Given the description of an element on the screen output the (x, y) to click on. 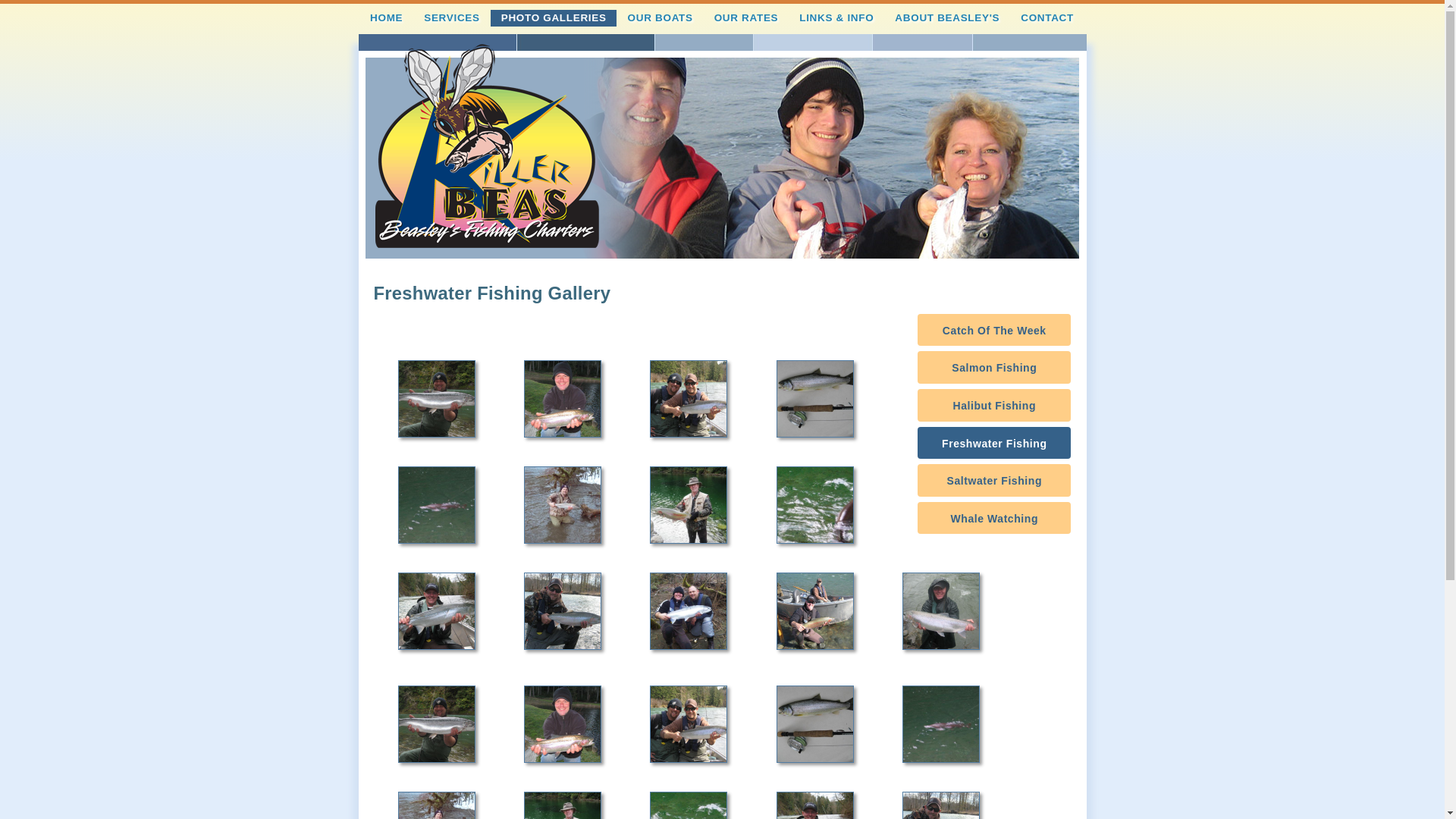
Saltwater Fishing Element type: text (993, 480)
Freshwater Fishing Element type: text (993, 442)
SERVICES Element type: text (451, 17)
OUR BOATS Element type: text (659, 17)
LINKS & INFO Element type: text (836, 17)
ABOUT BEASLEY'S Element type: text (947, 17)
Beasley's Fishing Charters Element type: hover (486, 145)
PHOTO GALLERIES Element type: text (553, 17)
Whale Watching Element type: text (993, 518)
OUR RATES Element type: text (745, 17)
Catch Of The Week Element type: text (993, 329)
HOME Element type: text (386, 17)
Halibut Fishing Element type: text (993, 405)
CONTACT Element type: text (1047, 17)
Salmon Fishing Element type: text (993, 367)
